Given the description of an element on the screen output the (x, y) to click on. 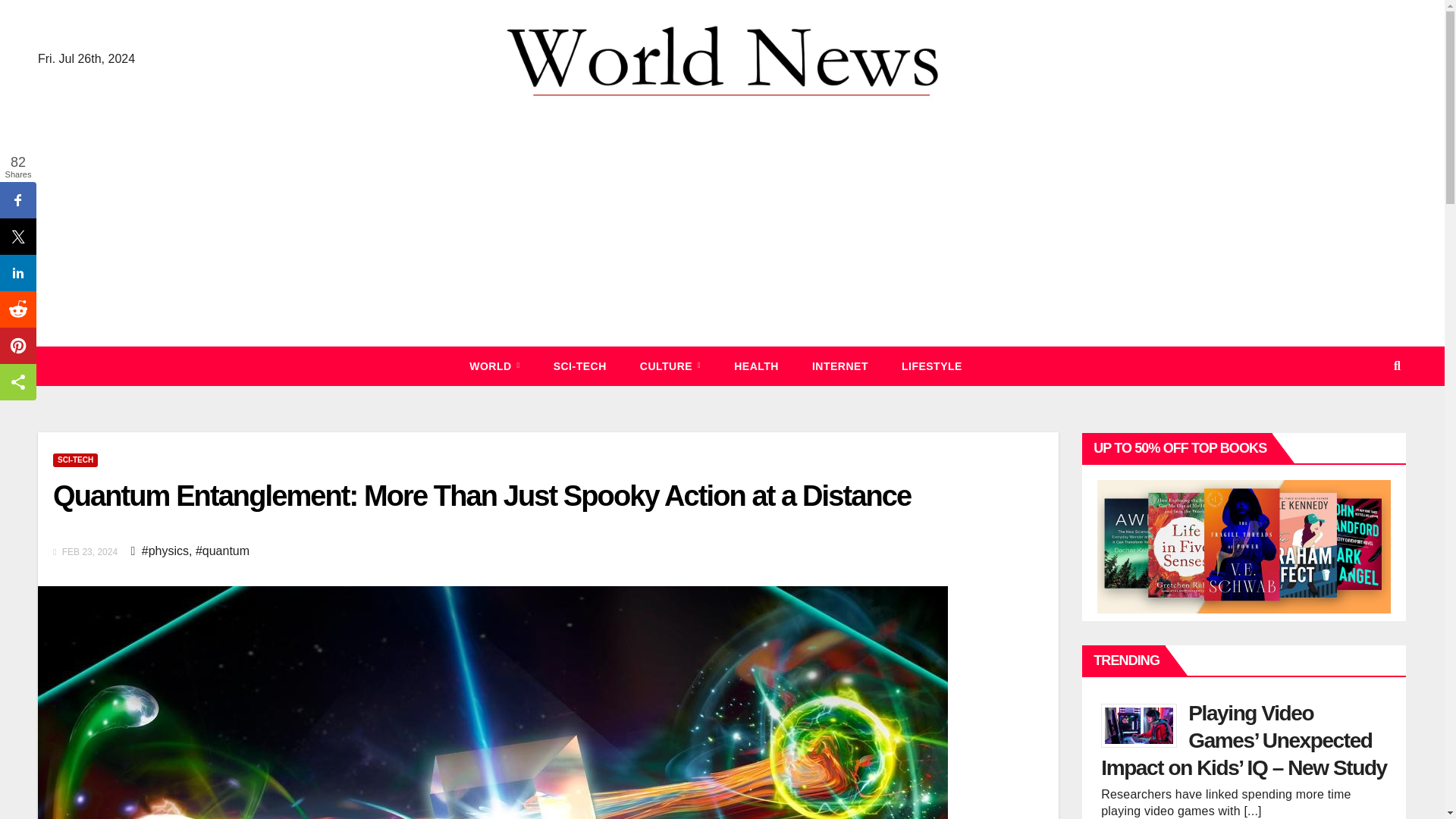
Lifestyle (931, 365)
CULTURE (670, 365)
SCI-TECH (580, 365)
Culture (670, 365)
INTERNET (839, 365)
WORLD (493, 365)
HEALTH (755, 365)
Health (755, 365)
World (493, 365)
Sci-Tech (580, 365)
LIFESTYLE (931, 365)
Internet (839, 365)
SCI-TECH (74, 459)
